Given the description of an element on the screen output the (x, y) to click on. 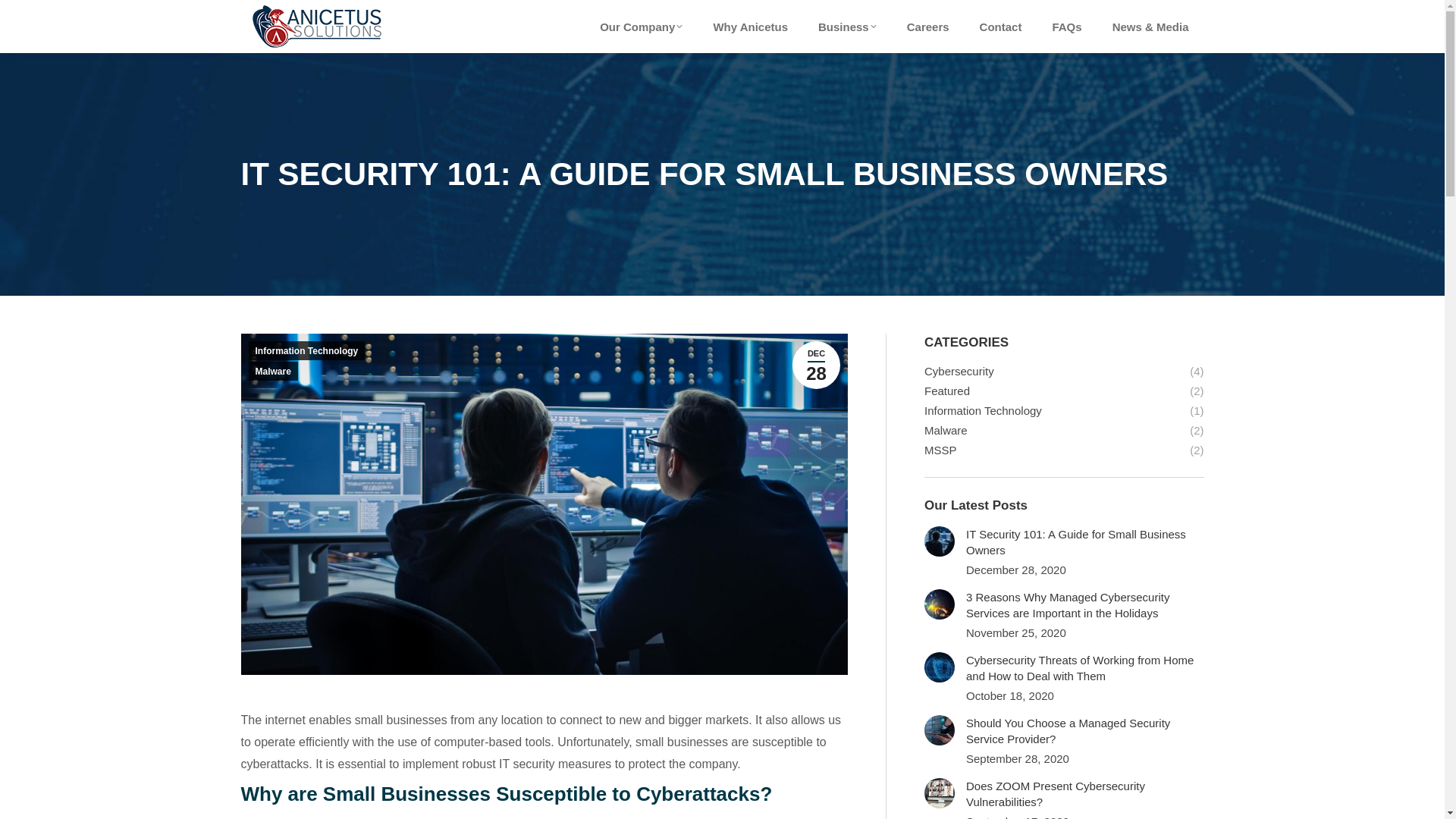
Malware (273, 370)
Contact (1000, 26)
Information Technology (306, 350)
FAQs (1066, 26)
Business (846, 26)
Careers (816, 365)
3:45 pm (927, 26)
Our Company (816, 365)
Why Anicetus (641, 26)
